Given the description of an element on the screen output the (x, y) to click on. 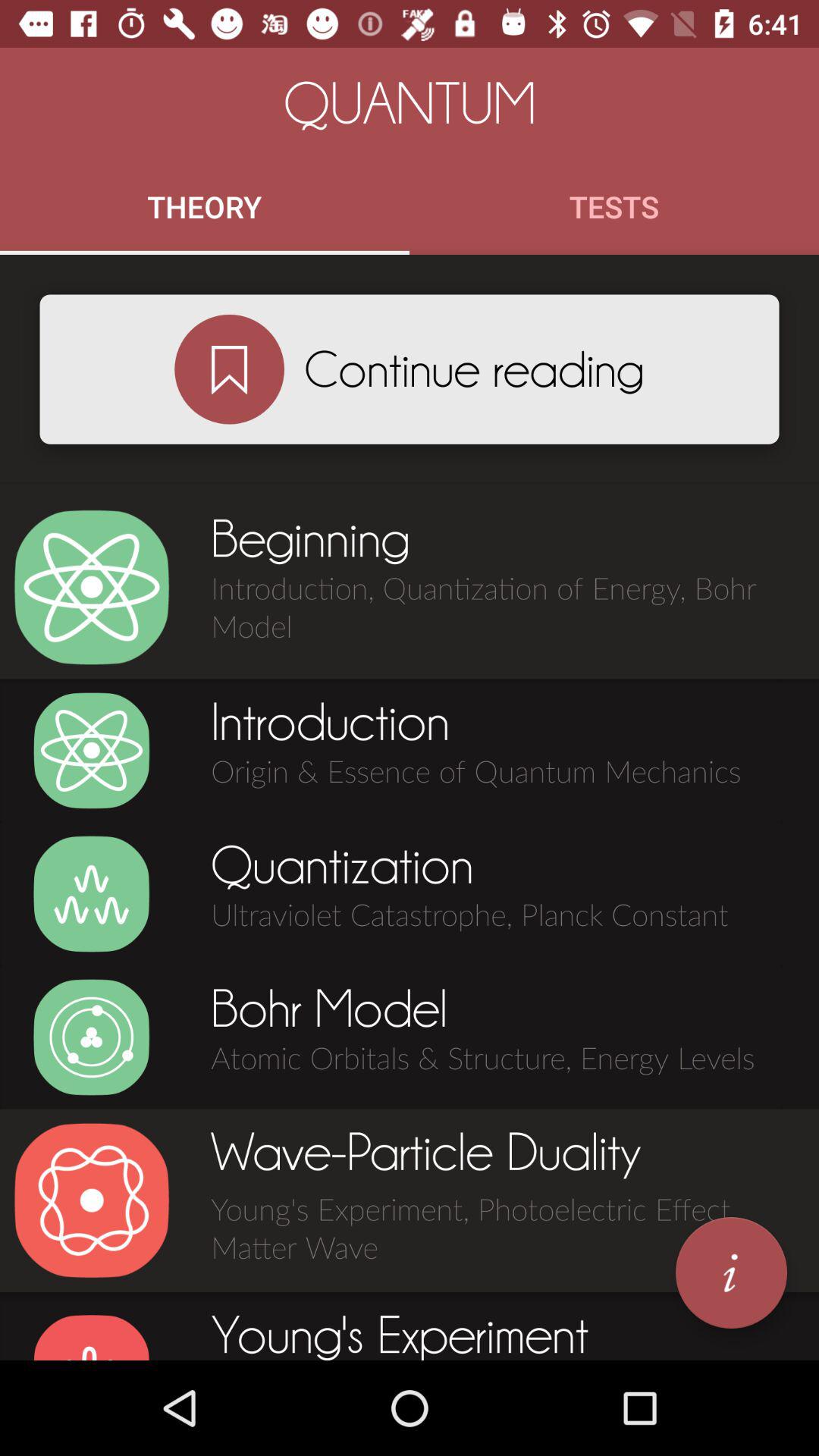
continue reading (229, 369)
